Given the description of an element on the screen output the (x, y) to click on. 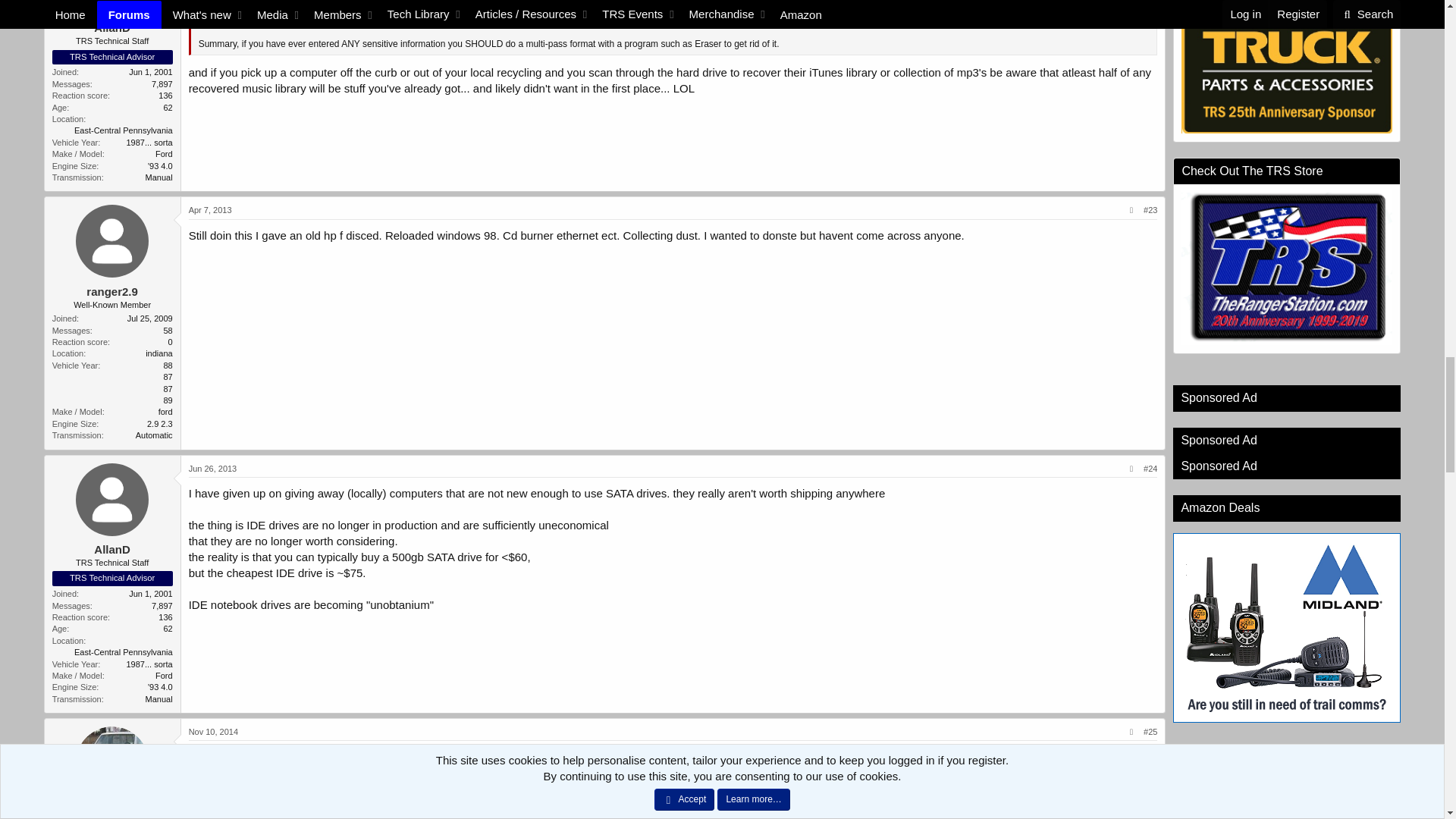
Apr 7, 2013 at 9:43 PM (210, 209)
Nov 10, 2014 at 6:53 PM (213, 731)
Jun 26, 2013 at 11:46 AM (213, 468)
